Given the description of an element on the screen output the (x, y) to click on. 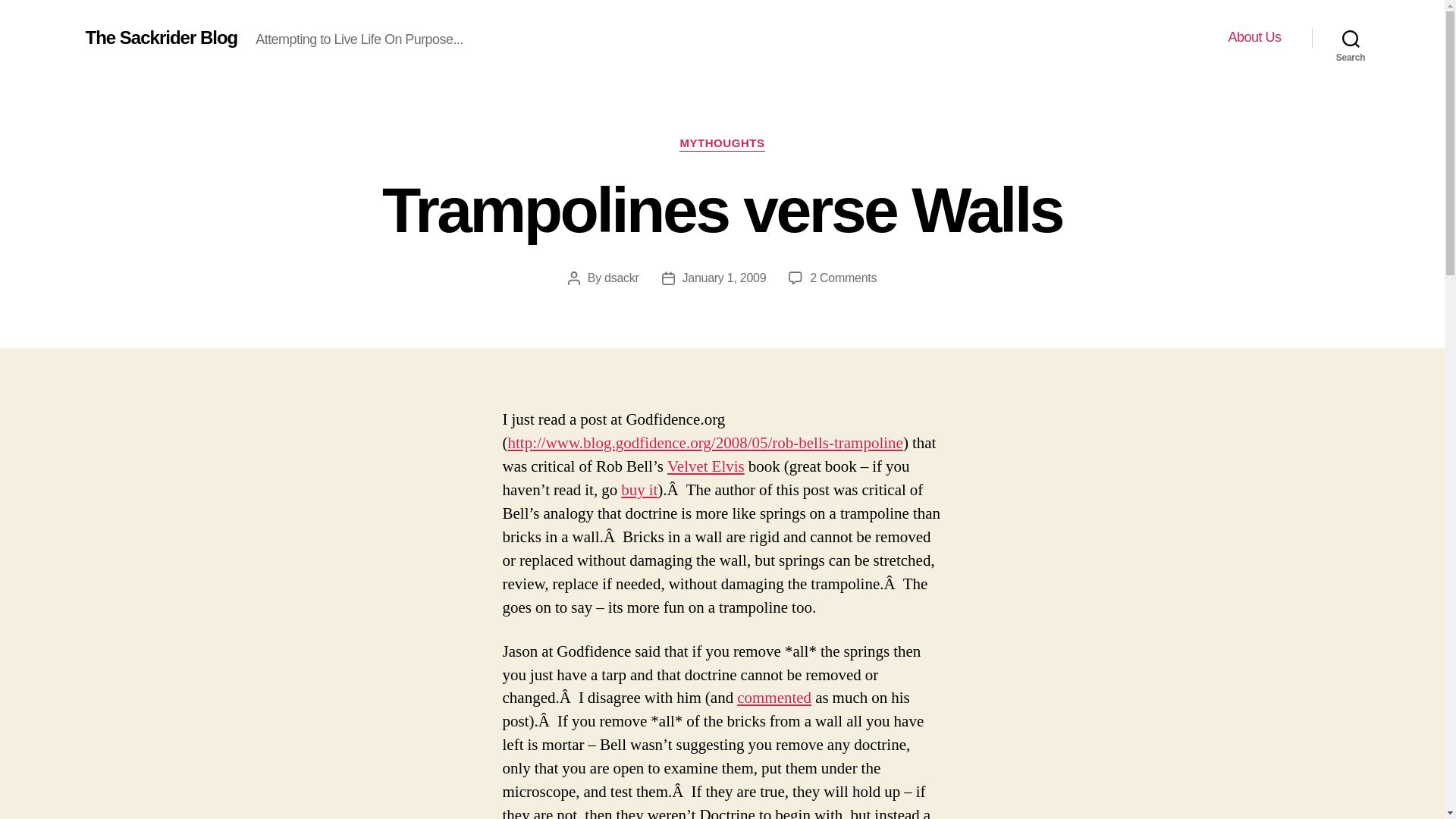
Velvet Elvis (705, 466)
Search (1350, 37)
buy it (639, 489)
dsackr (621, 277)
January 1, 2009 (724, 277)
commented (842, 277)
MYTHOUGHTS (773, 697)
The Sackrider Blog (721, 143)
About Us (160, 37)
